Given the description of an element on the screen output the (x, y) to click on. 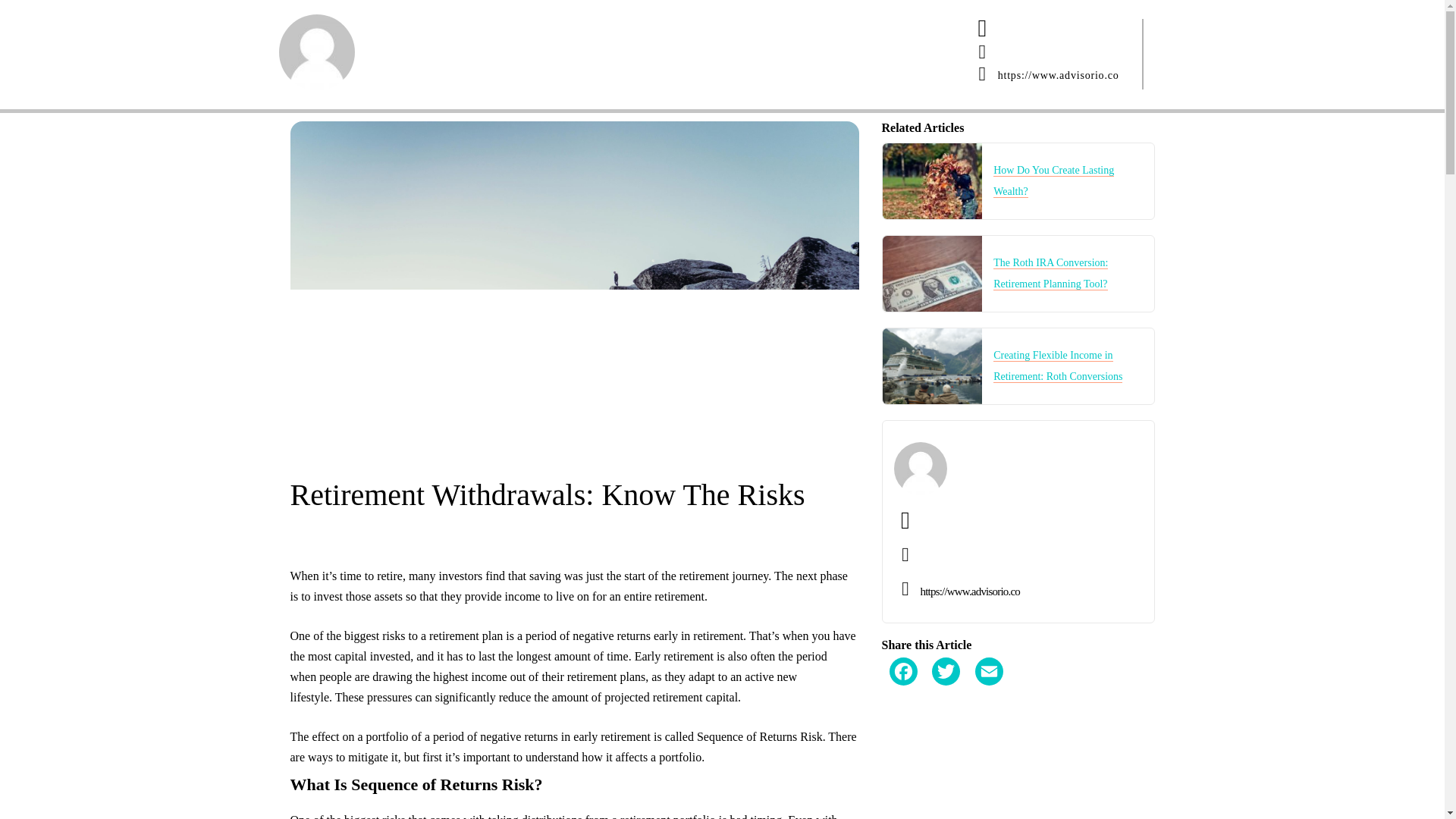
Creating Flexible Income in Retirement: Roth Conversions (1057, 366)
Facebook (903, 664)
Twitter (945, 664)
How Do You Create Lasting Wealth? (1052, 181)
Facebook (903, 664)
The Roth IRA Conversion: Retirement Planning Tool? (1050, 273)
Email (989, 664)
Twitter (945, 664)
Email (989, 664)
